Given the description of an element on the screen output the (x, y) to click on. 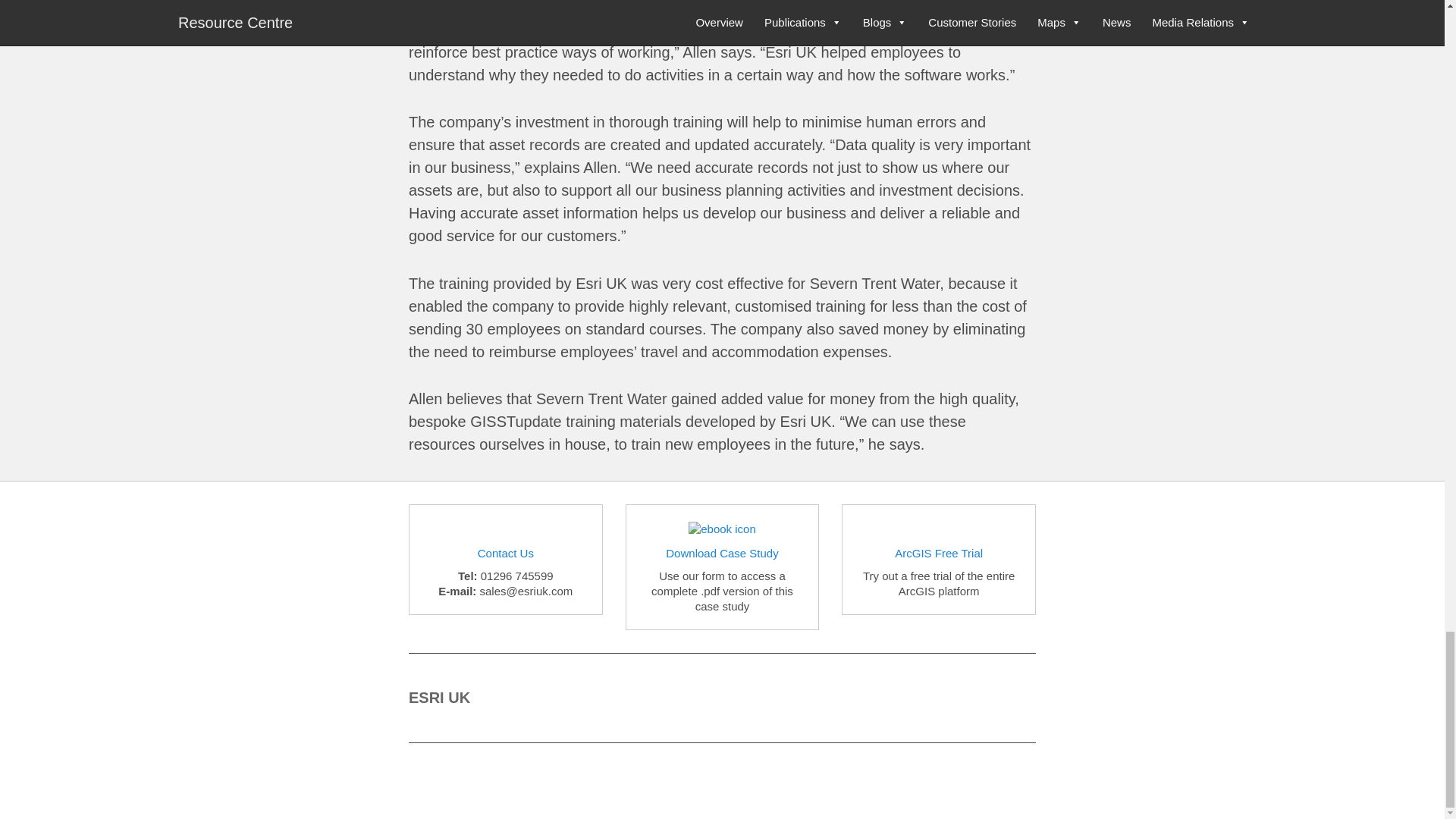
Contact Us (505, 553)
Download Case Study (721, 553)
ArcGIS Free Trial (938, 553)
